Given the description of an element on the screen output the (x, y) to click on. 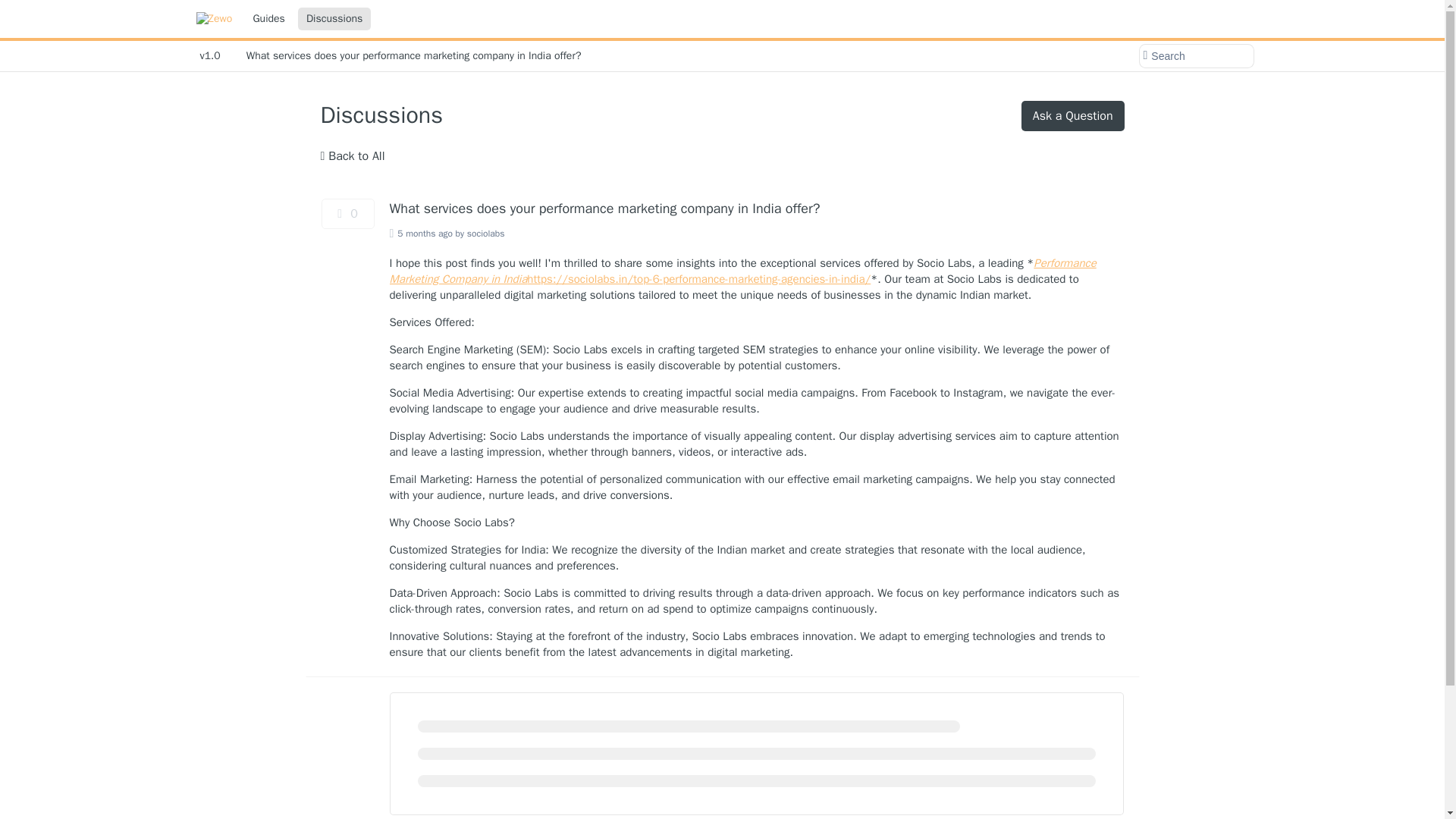
Performance Marketing Company in India (743, 270)
Search (1195, 56)
Ask a Question (1073, 115)
Discussions (334, 18)
Guides (269, 18)
0 (347, 214)
Back to All (352, 155)
